Given the description of an element on the screen output the (x, y) to click on. 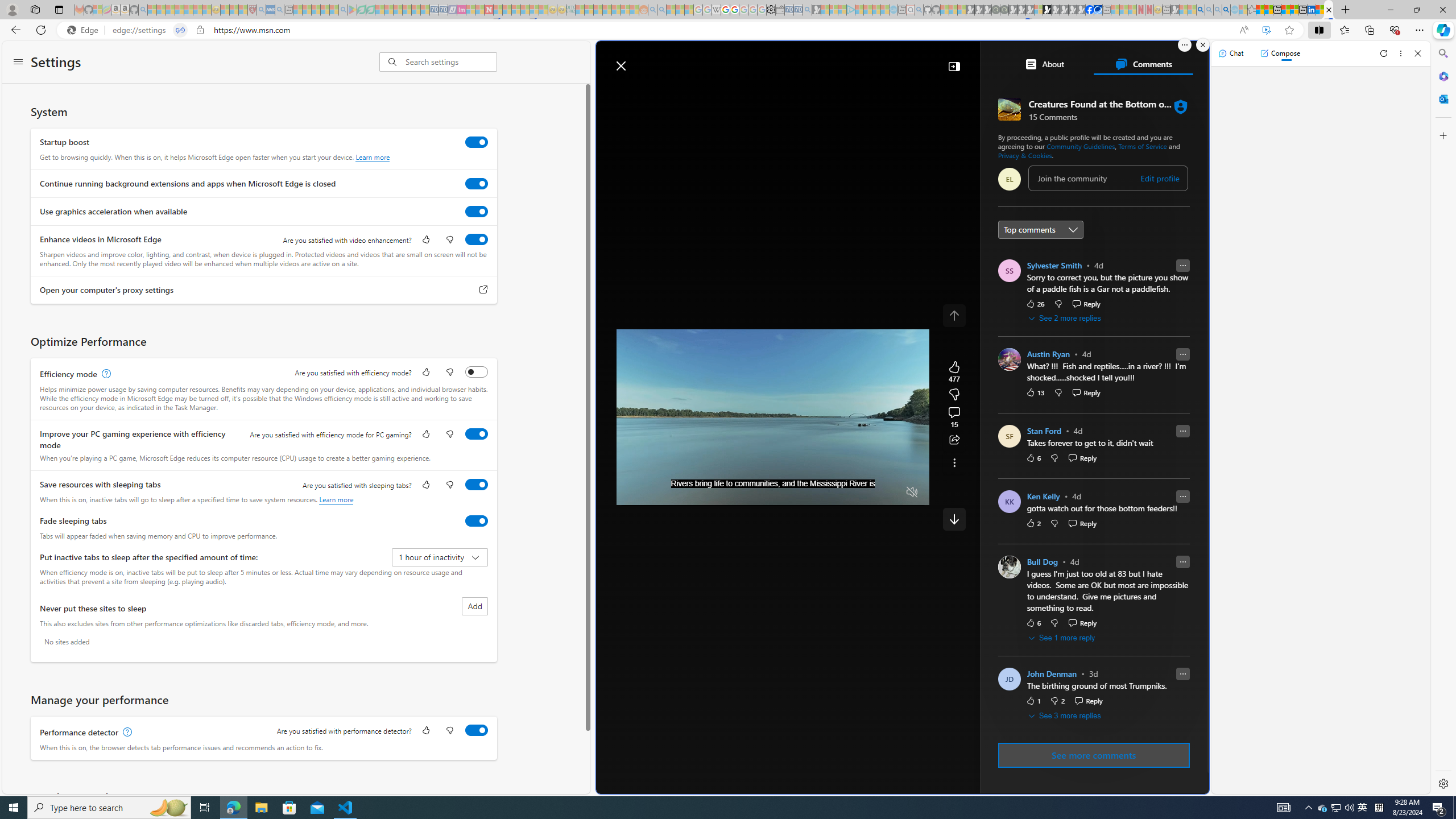
Profile Picture (1008, 679)
Edge (84, 29)
Collapse (954, 65)
 GettyImages-2157578835.jpg (1161, 385)
See 2 more replies (1065, 318)
Share this story (954, 440)
